Given the description of an element on the screen output the (x, y) to click on. 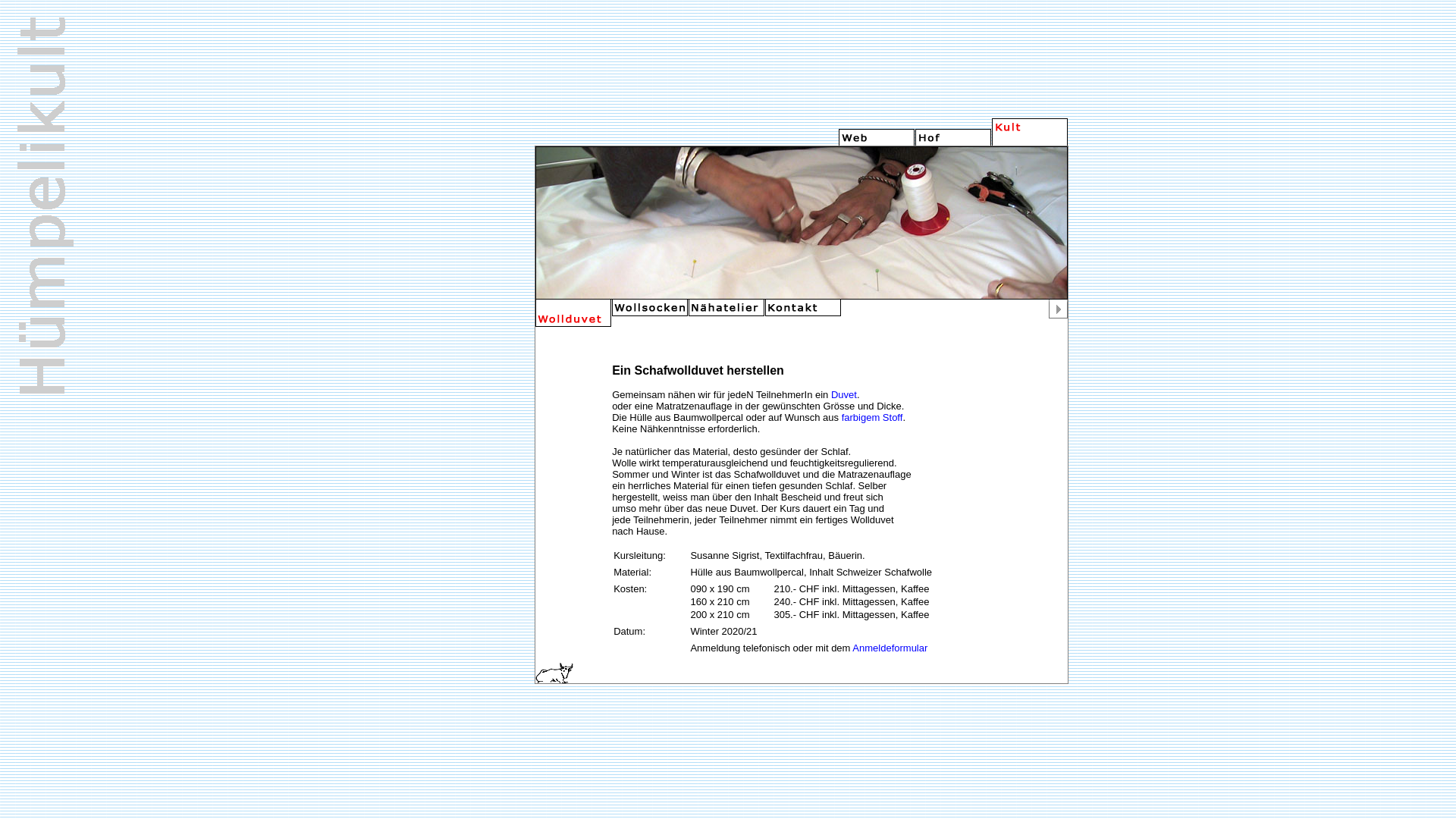
farbigem Stoff Element type: text (872, 417)
Anmeldeformular Element type: text (889, 647)
Duvet Element type: text (843, 394)
